Given the description of an element on the screen output the (x, y) to click on. 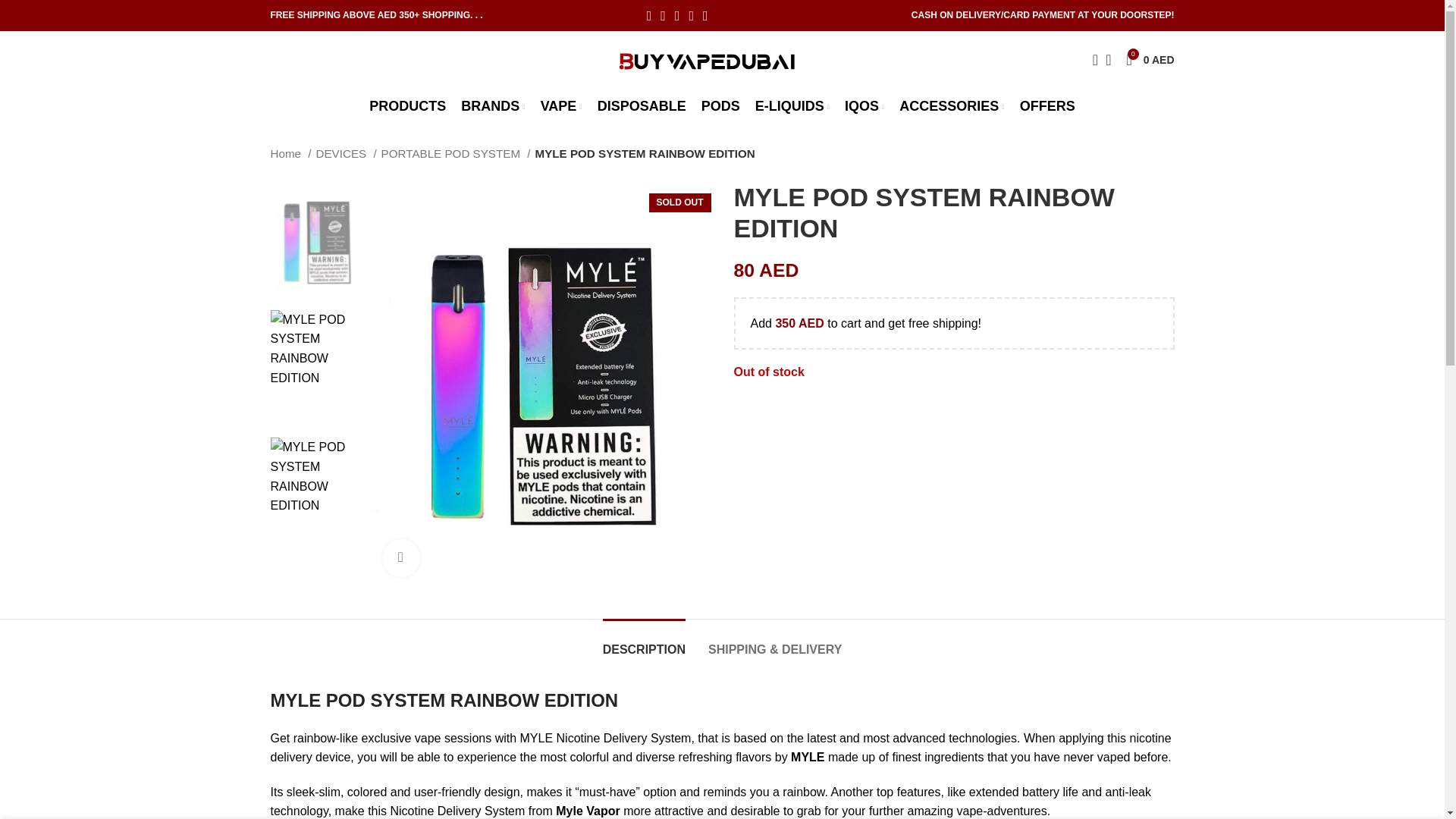
Log in (985, 308)
VAPE (1149, 59)
DISPOSABLE (561, 106)
BRANDS (640, 106)
ACCESSORIES (492, 106)
PRODUCTS (951, 106)
IQOS (407, 106)
PODS (863, 106)
E-LIQUIDS (720, 106)
Shopping cart (792, 106)
